Given the description of an element on the screen output the (x, y) to click on. 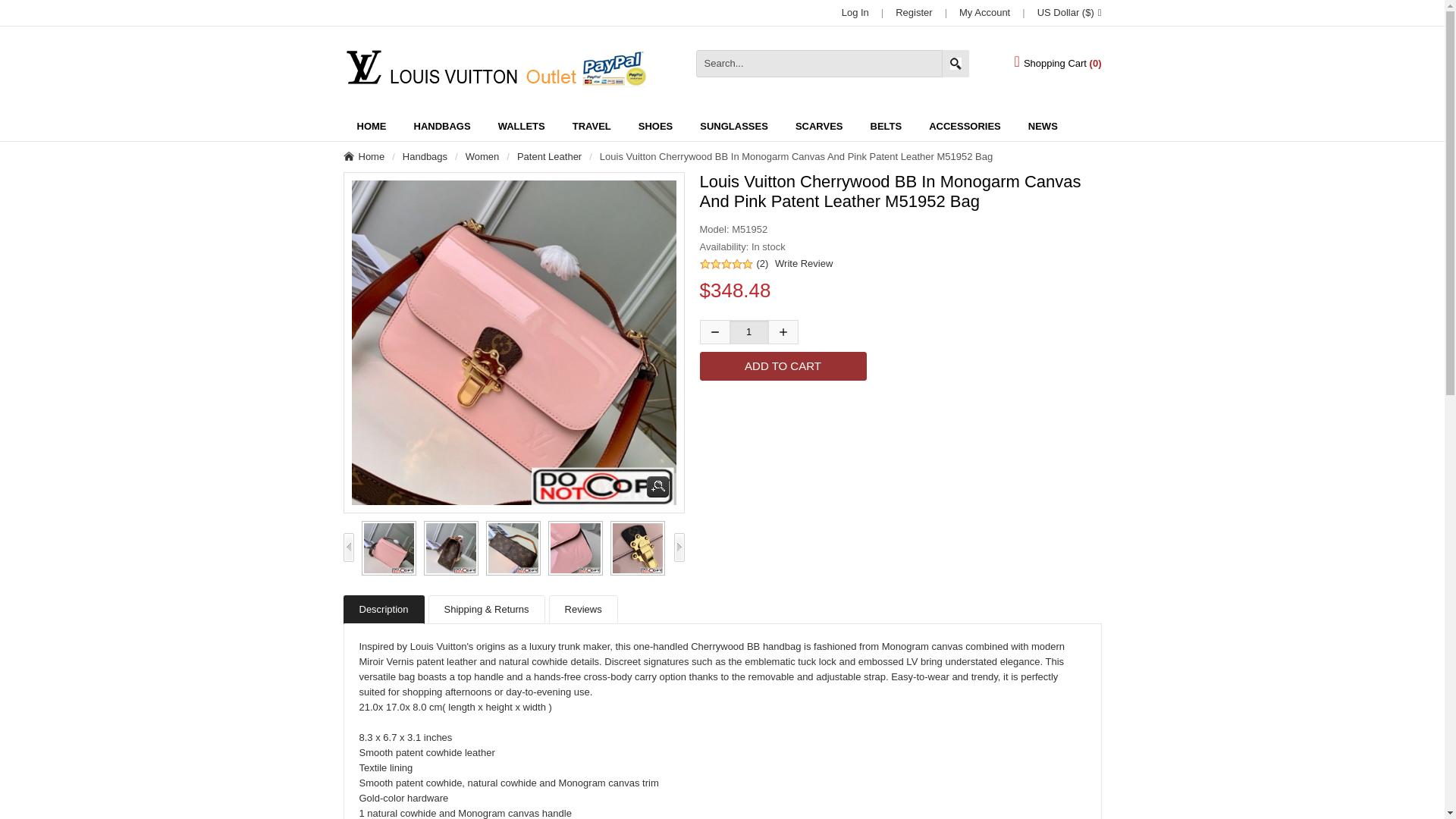
Add to Cart (782, 366)
Register (913, 12)
Log In (854, 12)
My Account (984, 12)
Search... (832, 62)
High Quality Replica Louis Vuitton Bags Outlet (493, 69)
Search (955, 62)
HOME (370, 126)
